Given the description of an element on the screen output the (x, y) to click on. 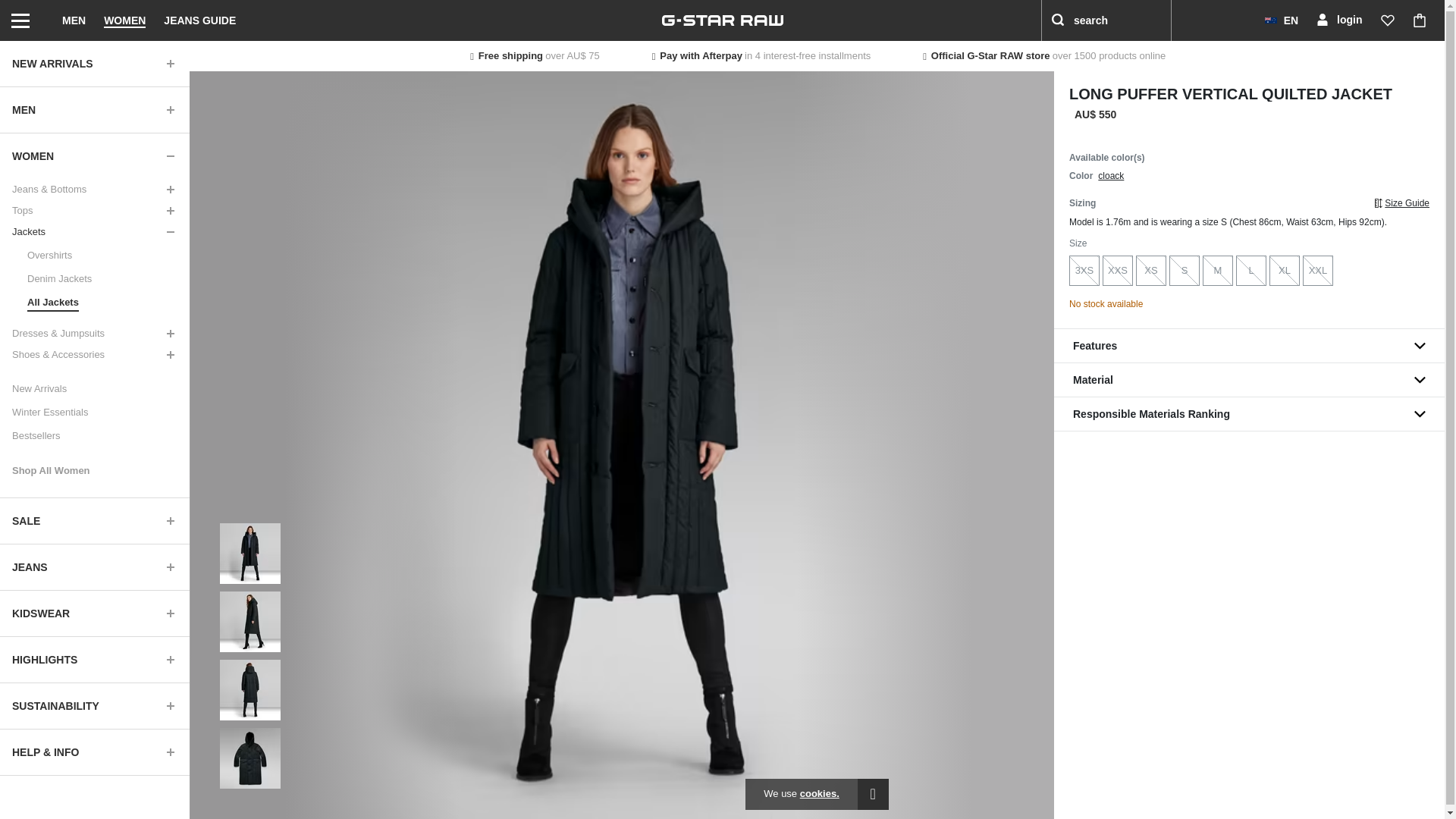
NEW ARRIVALS (94, 63)
G-Star RAW (721, 20)
MEN (94, 109)
login (1338, 20)
EN (1281, 20)
WOMEN (124, 20)
JEANS GUIDE (199, 20)
